Given the description of an element on the screen output the (x, y) to click on. 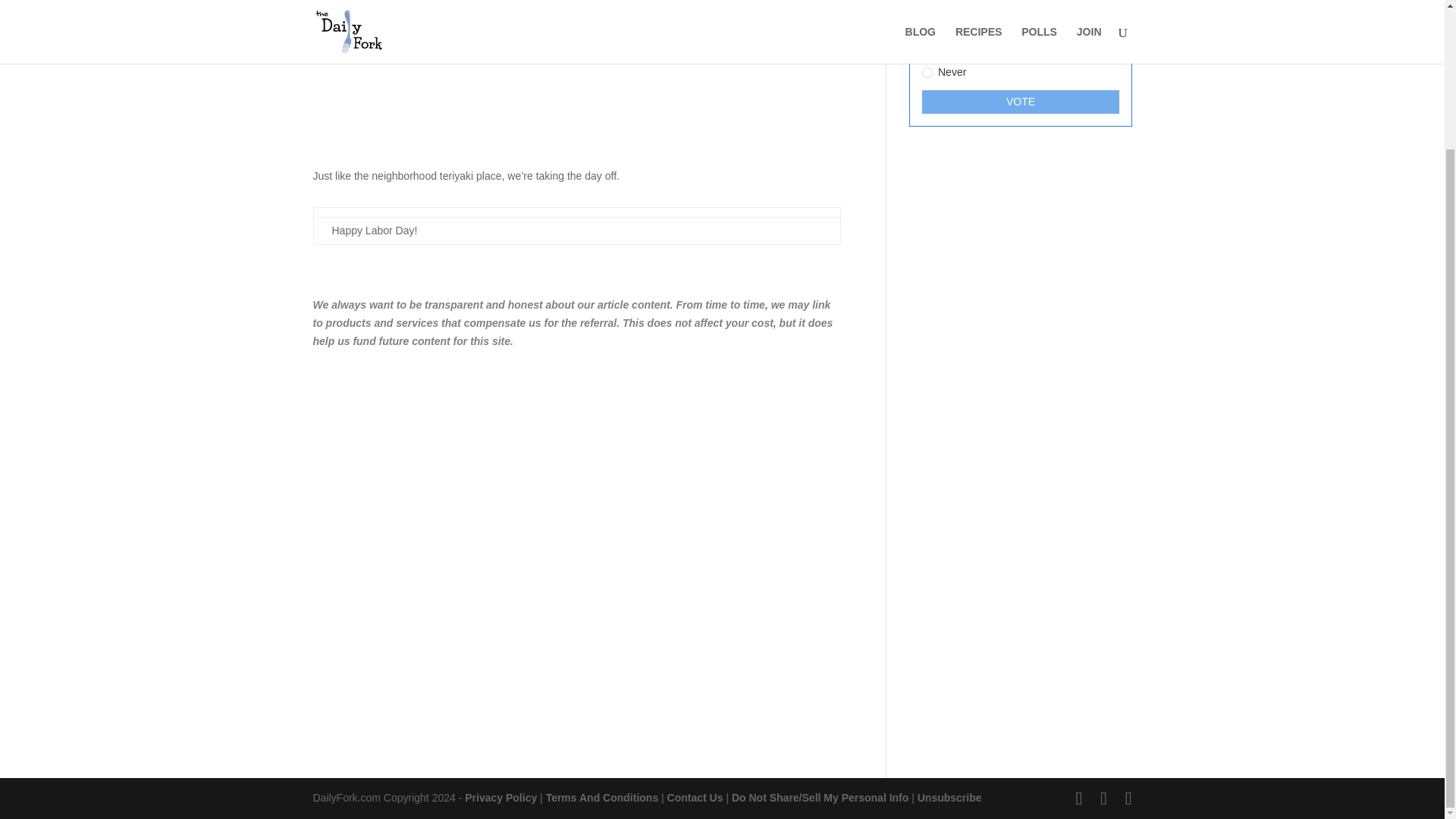
Privacy Policy (500, 797)
Contact Us (694, 797)
Advertisement (577, 463)
Advertisement (1019, 506)
Terms And Conditions (602, 797)
Advertisement (577, 94)
Unsubscribe (949, 797)
